Given the description of an element on the screen output the (x, y) to click on. 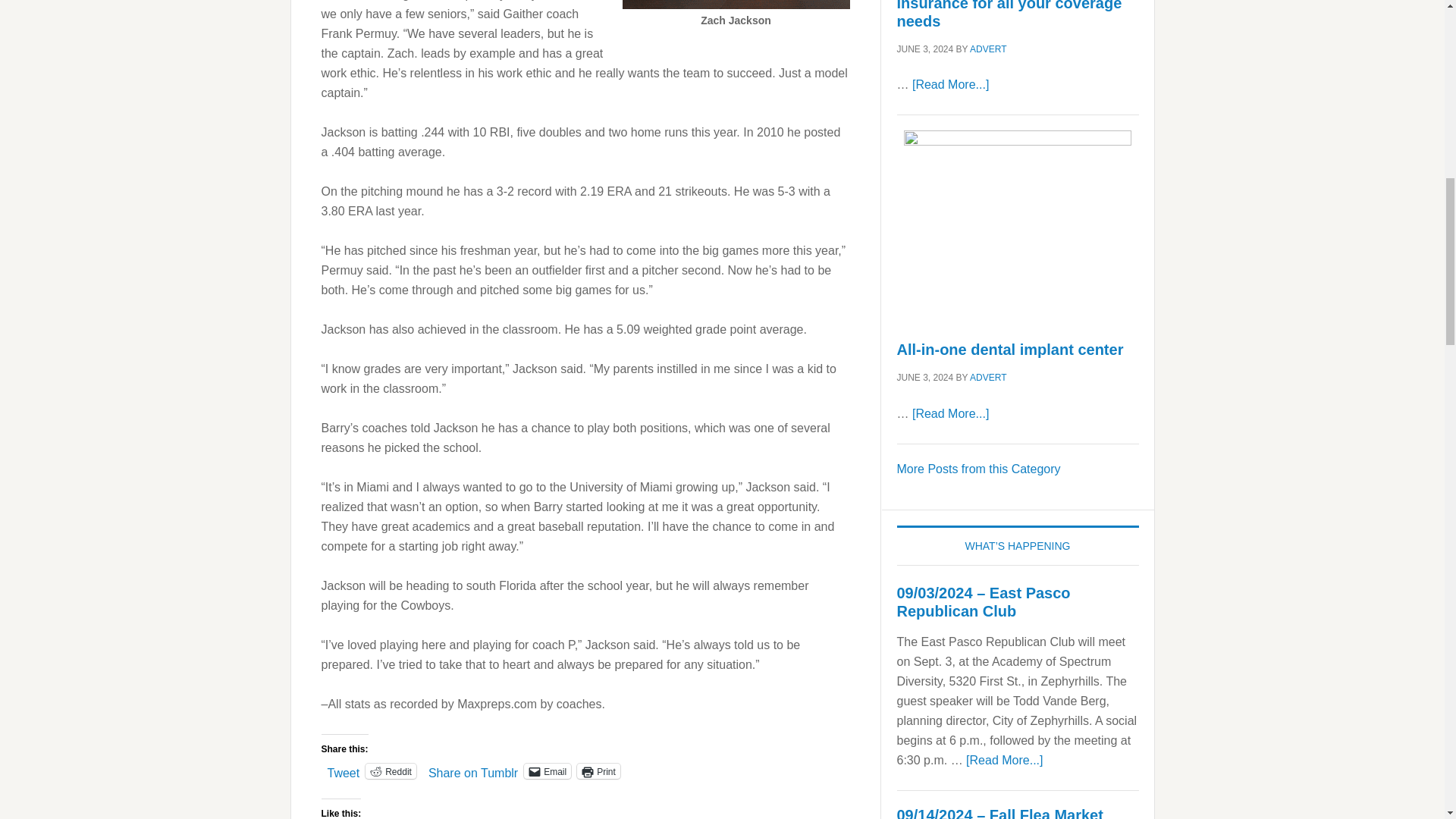
Click to print (598, 770)
Click to share on Reddit (390, 770)
Share on Tumblr (473, 770)
Zack-Jackson-signs (734, 4)
Click to email a link to a friend (547, 770)
Sponsored Content (977, 468)
